Given the description of an element on the screen output the (x, y) to click on. 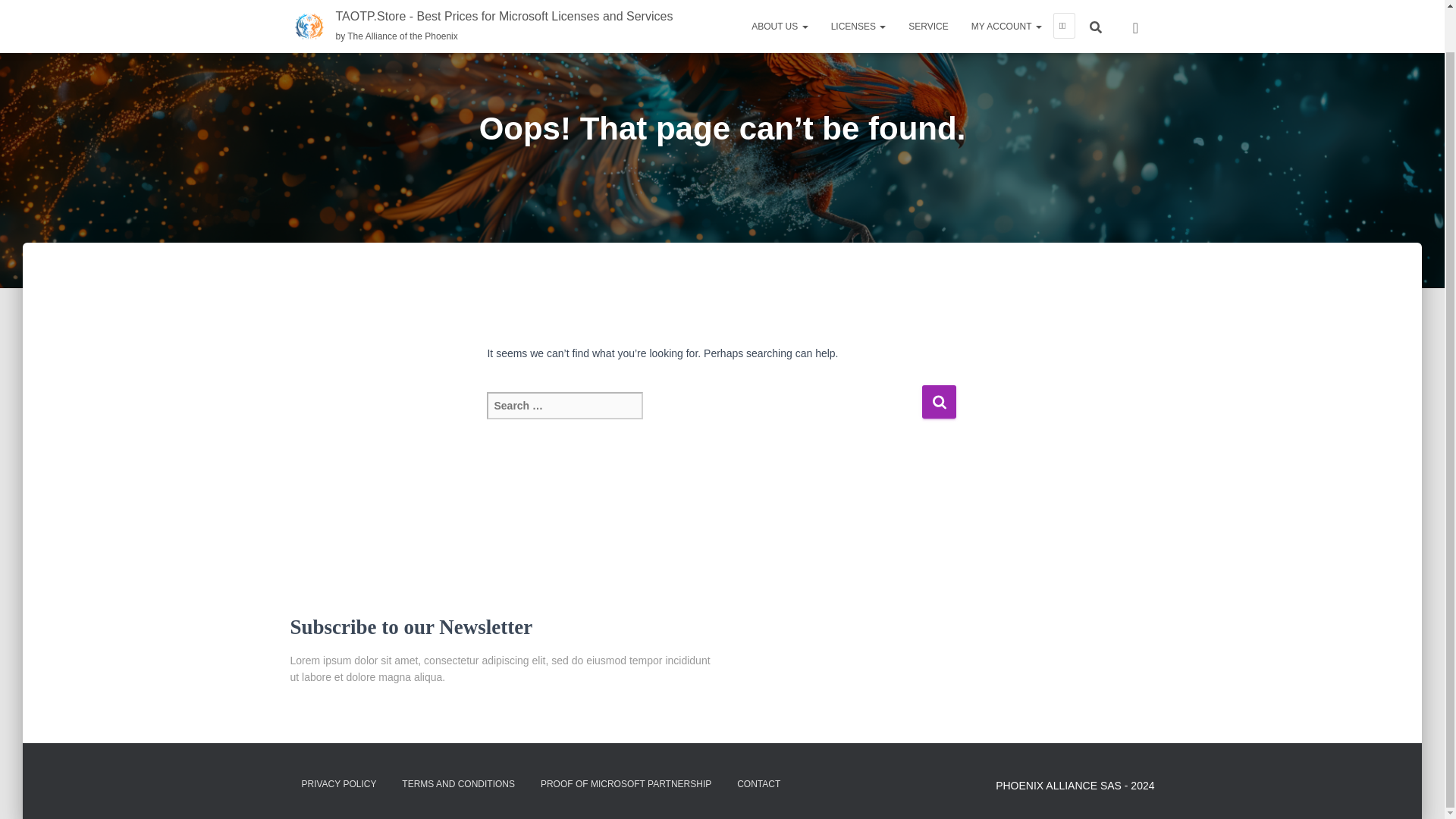
PROOF OF MICROSOFT PARTNERSHIP (625, 784)
PRIVACY POLICY (338, 784)
SERVICE (927, 0)
Service (927, 0)
Search (938, 400)
Search (938, 400)
CONTACT (758, 784)
TERMS AND CONDITIONS (457, 784)
